Given the description of an element on the screen output the (x, y) to click on. 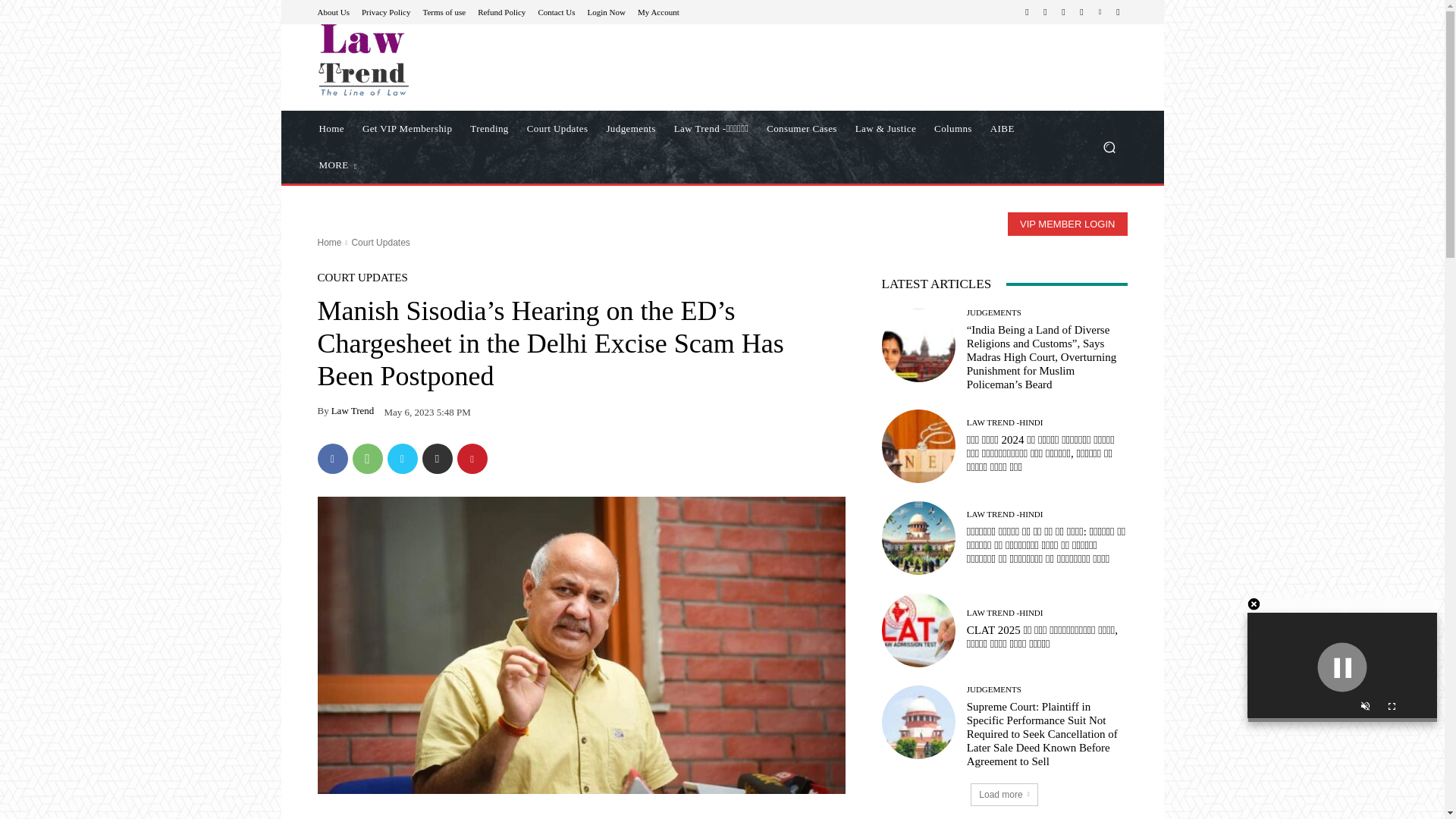
Refund Policy (501, 11)
Instagram (1044, 12)
Contact Us (556, 11)
Law Trend- Legal News Website (362, 59)
Terms of use (443, 11)
About Us (333, 11)
Youtube (1117, 12)
View all posts in Court Updates (379, 242)
Login Now (607, 11)
Privacy Policy (385, 11)
Facebook (1026, 12)
Twitter (1080, 12)
Vimeo (1099, 12)
Law Trend- Legal News Website (425, 59)
VIP MEMBER LOGIN (1066, 223)
